Given the description of an element on the screen output the (x, y) to click on. 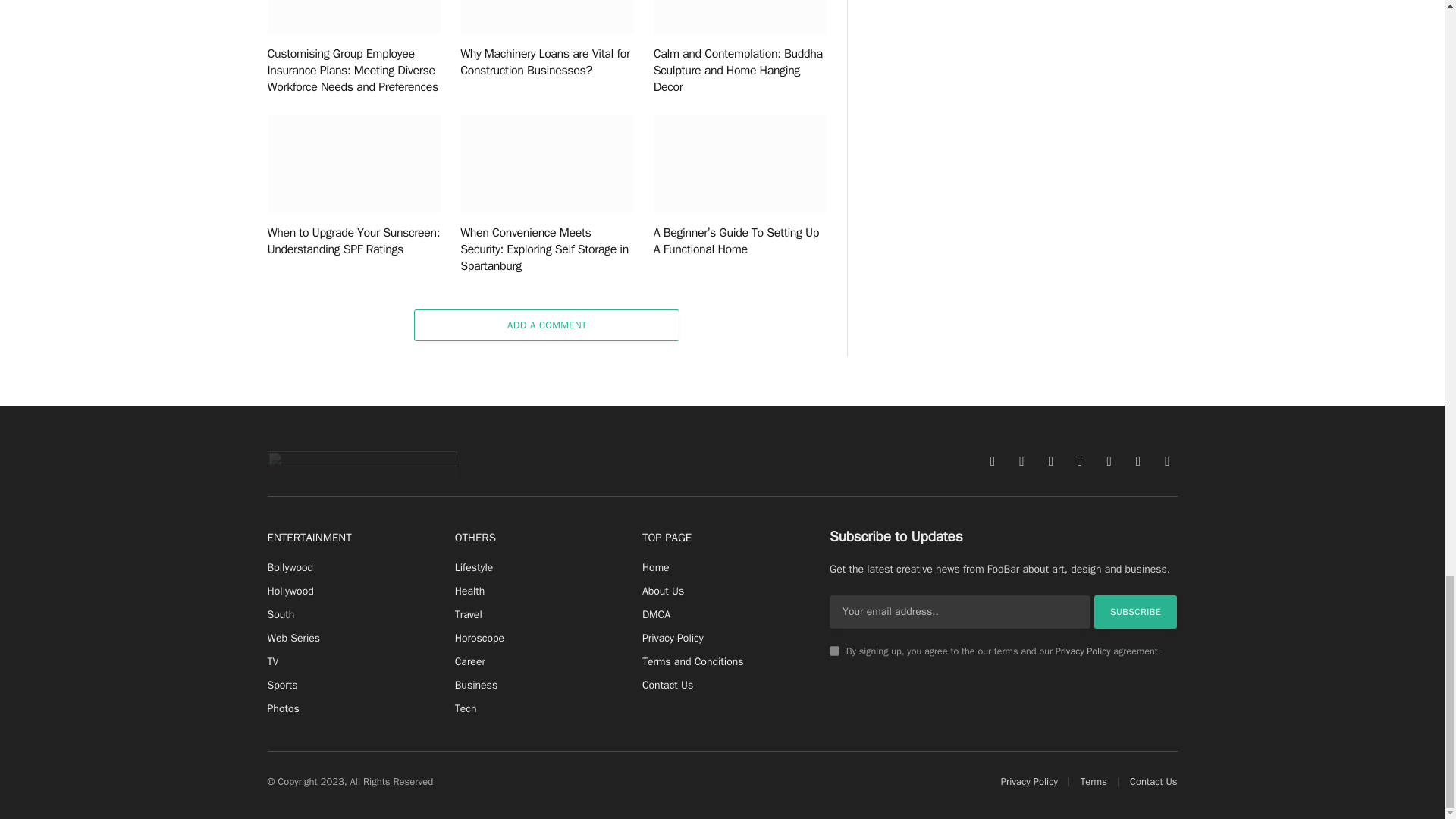
Subscribe (1135, 611)
on (834, 651)
